Given the description of an element on the screen output the (x, y) to click on. 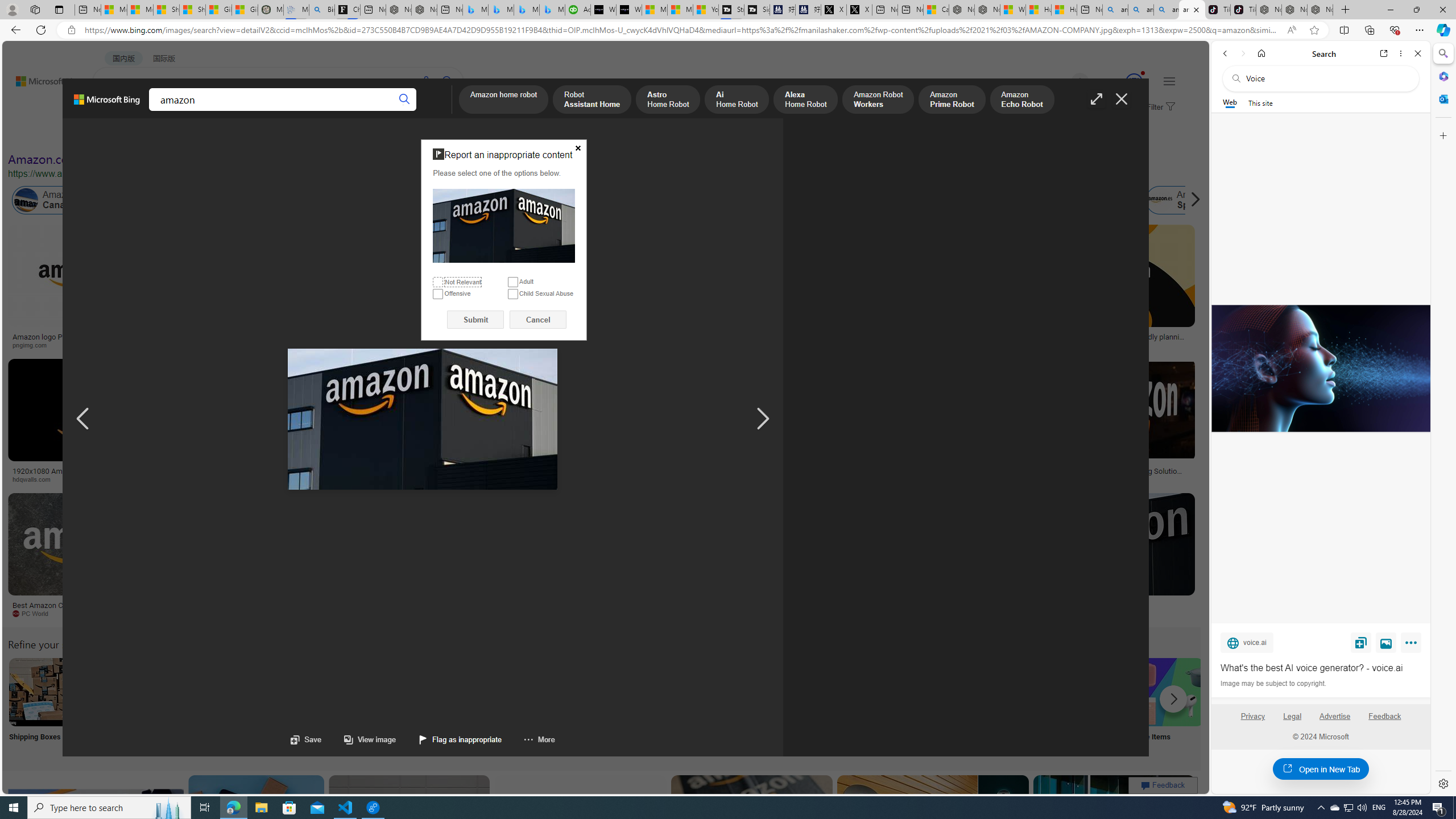
Filter (1158, 107)
Amazon Mini TV Mini TV (794, 706)
Wish List (568, 706)
Amazon Online Shopping Homepage Online Shopping Homepage (868, 706)
Alexa Smart Home Devices (673, 332)
Amazon (1105, 605)
Amazon Prime Online (137, 200)
